Given the description of an element on the screen output the (x, y) to click on. 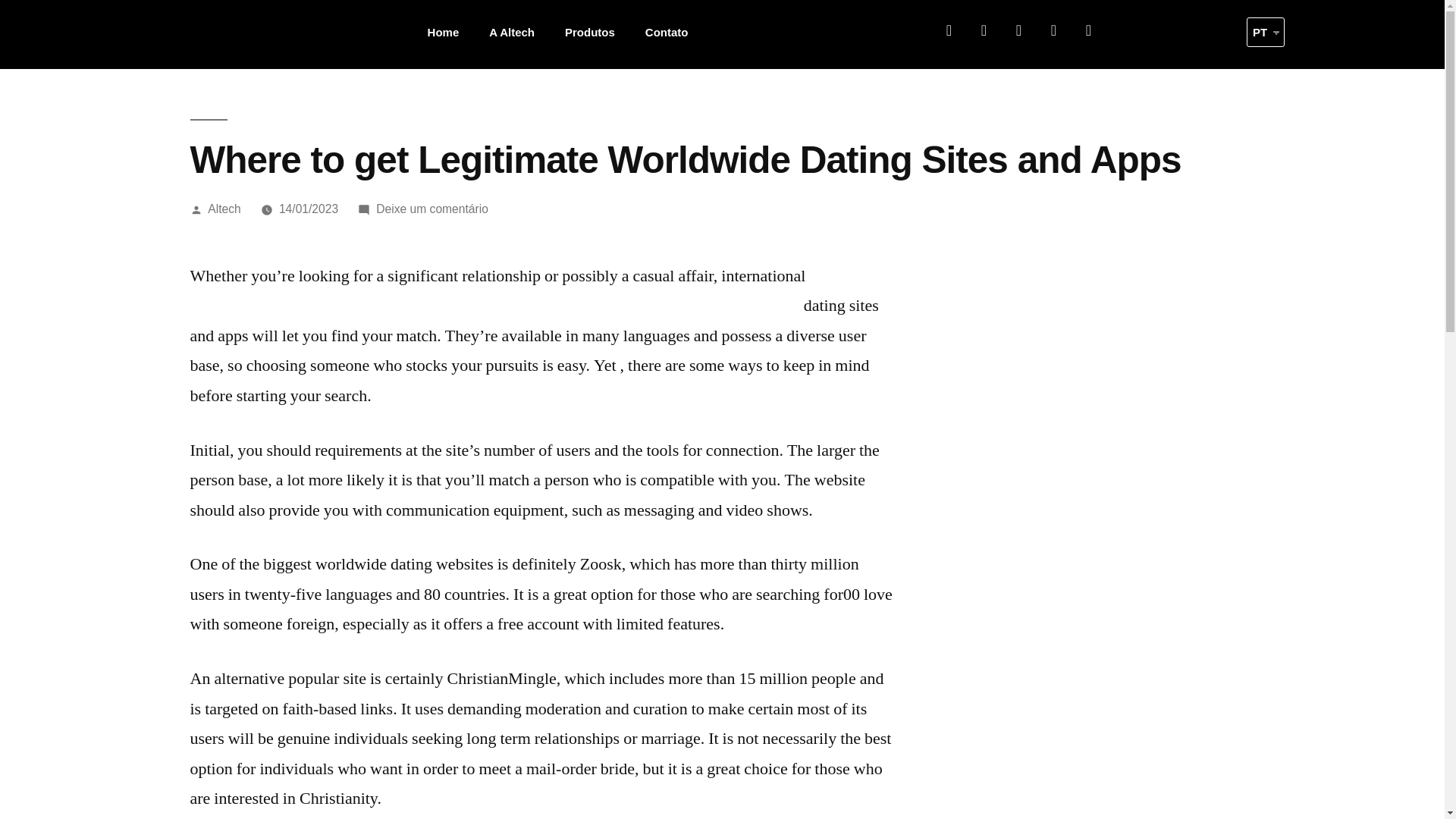
A Altech (512, 32)
Home (443, 32)
Produtos (590, 32)
Contato (666, 32)
